Given the description of an element on the screen output the (x, y) to click on. 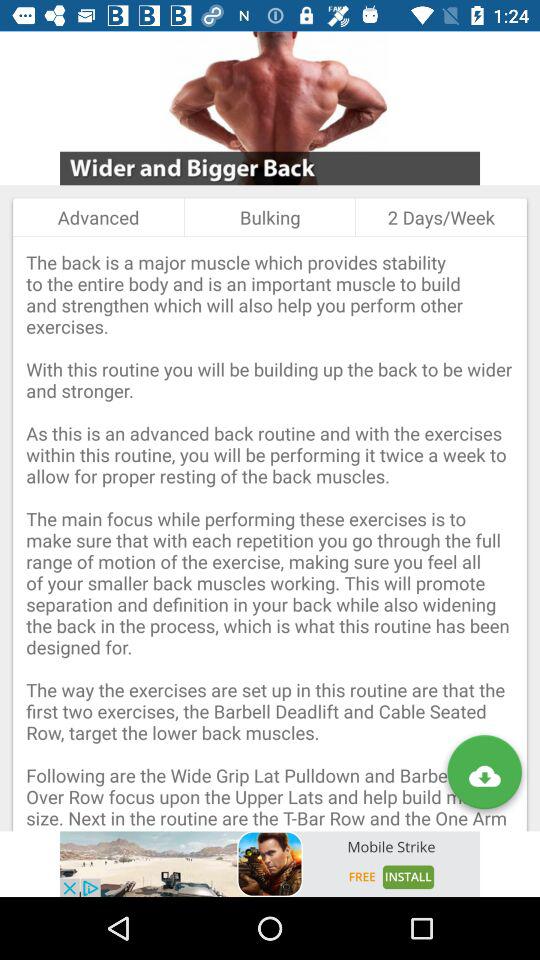
jump until bulking (269, 217)
